Given the description of an element on the screen output the (x, y) to click on. 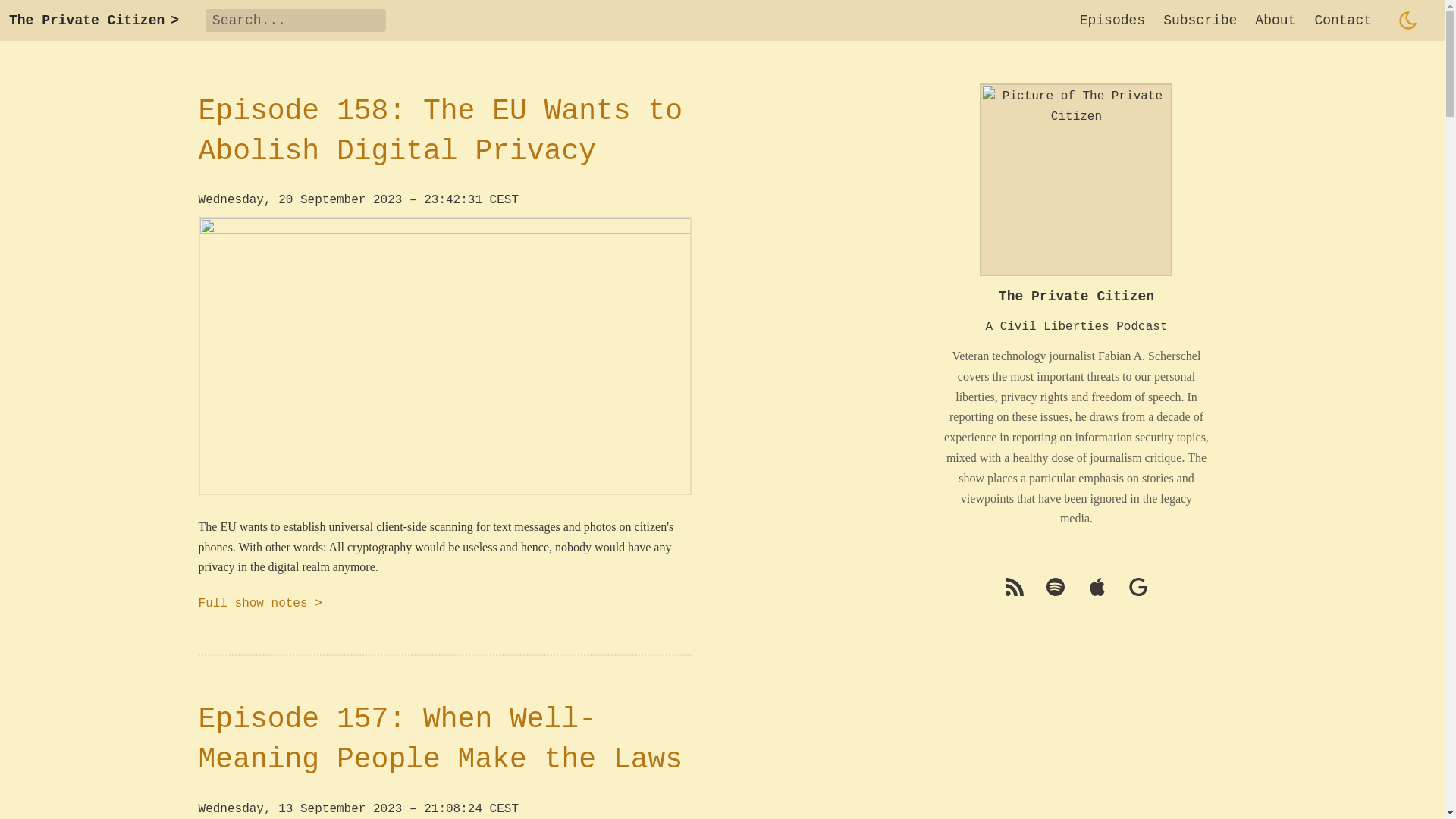
About (1275, 20)
Episodes (1112, 20)
Contact (1342, 20)
Subscribe (1199, 20)
Episode 157: When Well-Meaning People Make the Laws (440, 738)
Episode 158: The EU Wants to Abolish Digital Privacy (440, 131)
